Given the description of an element on the screen output the (x, y) to click on. 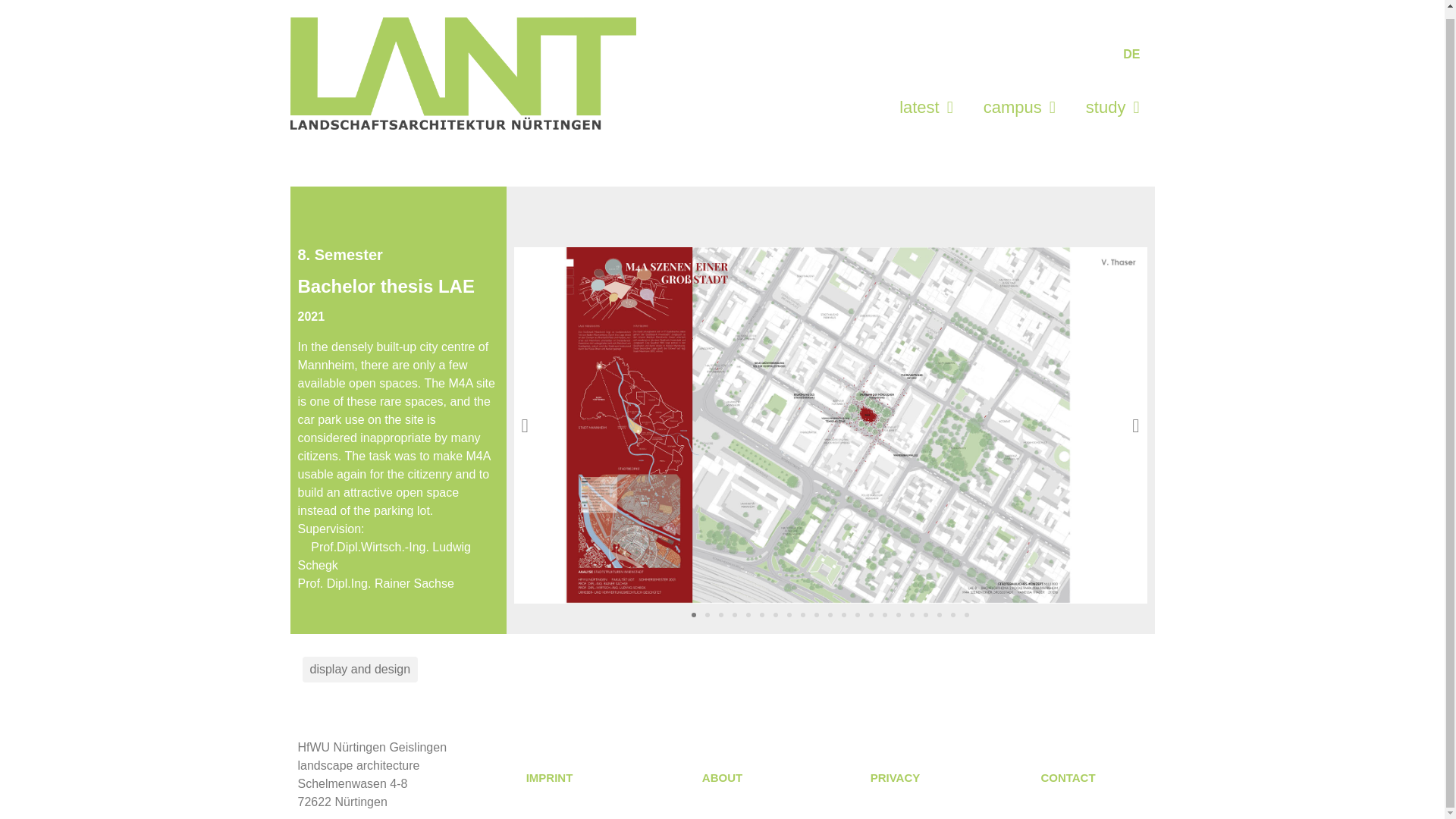
latest (925, 100)
study (1112, 100)
DE (1127, 46)
campus (1019, 100)
